Given the description of an element on the screen output the (x, y) to click on. 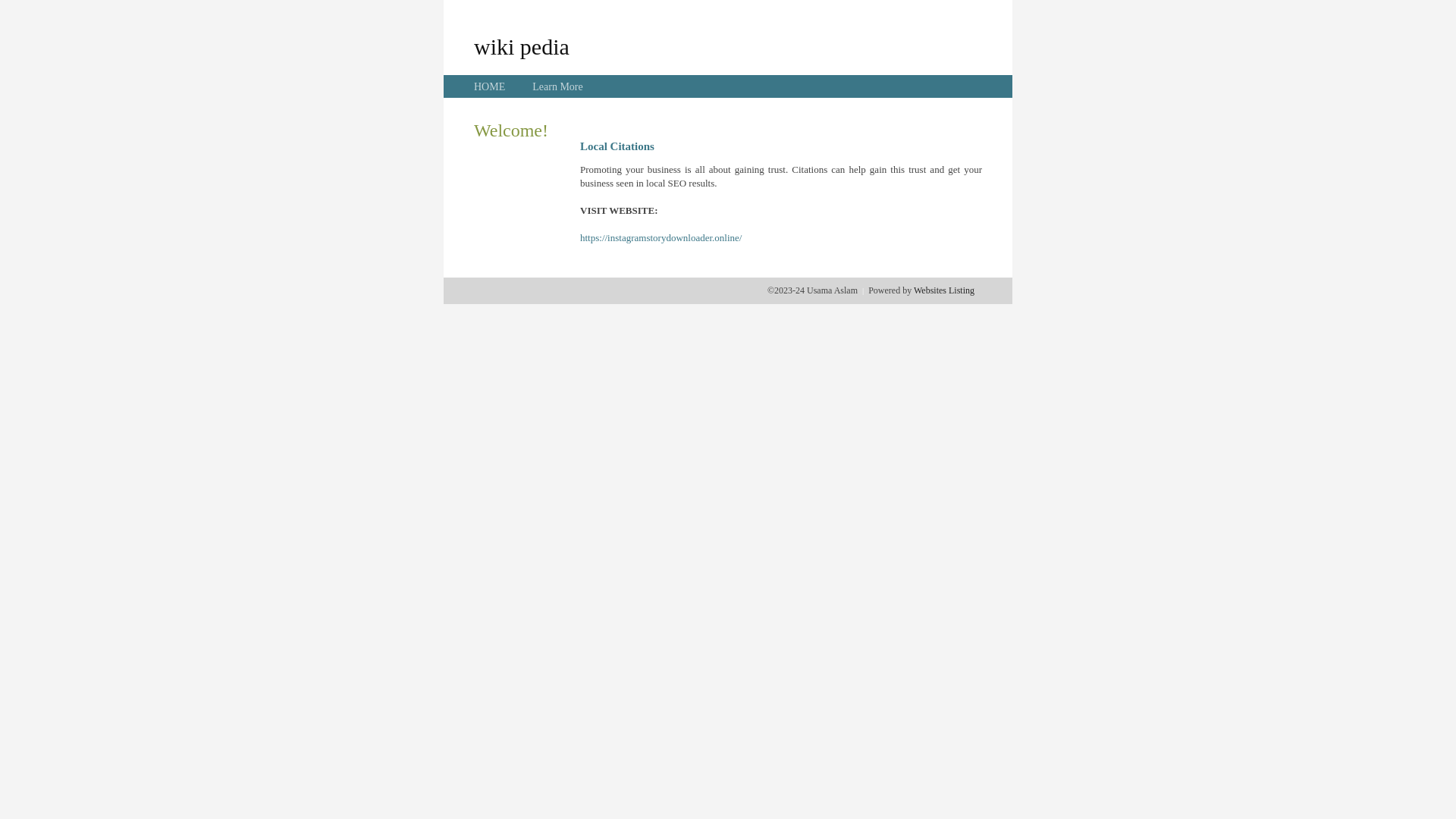
Websites Listing Element type: text (943, 290)
HOME Element type: text (489, 86)
https://instagramstorydownloader.online/ Element type: text (660, 237)
Learn More Element type: text (557, 86)
wiki pedia Element type: text (521, 46)
